Given the description of an element on the screen output the (x, y) to click on. 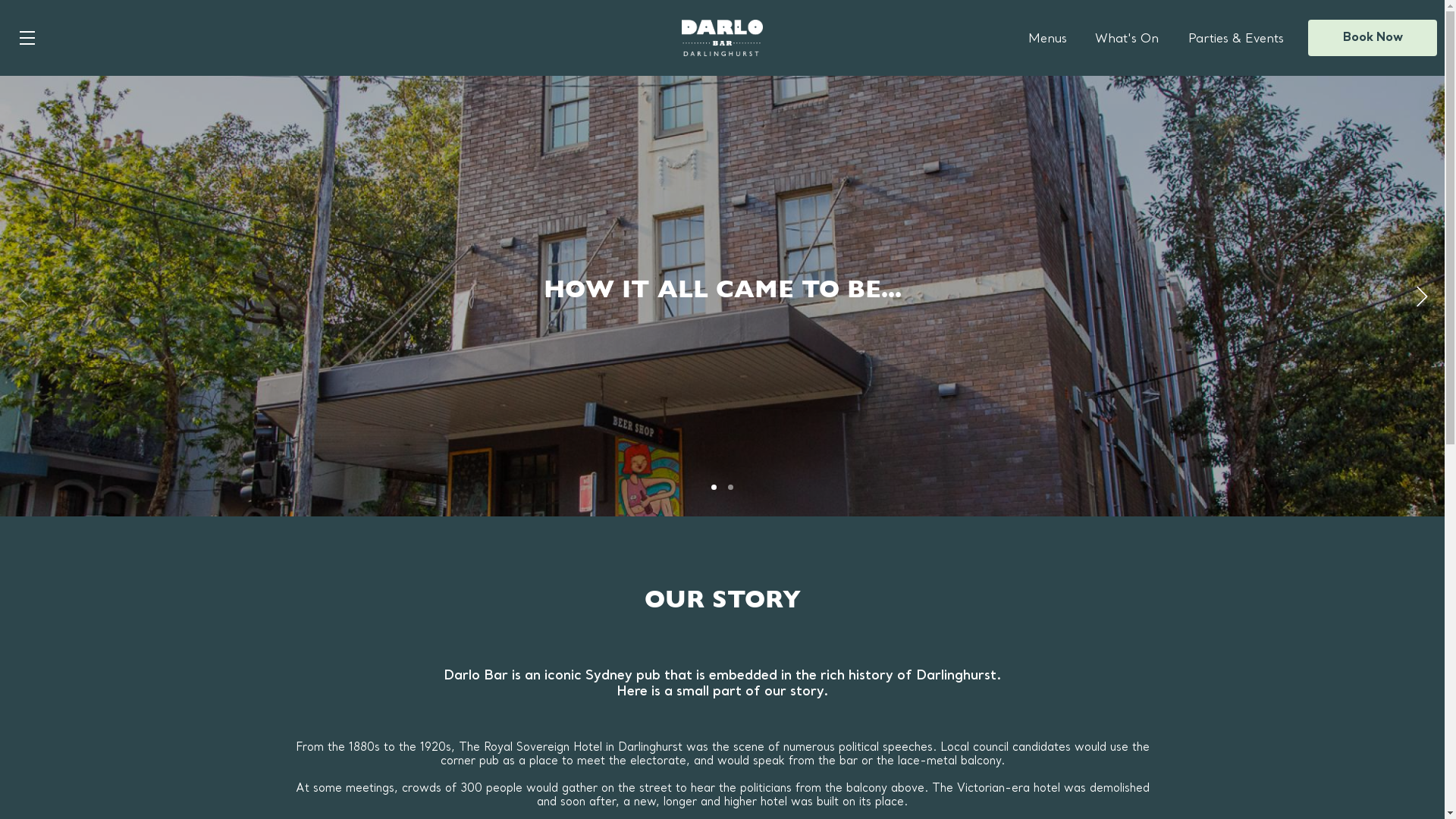
Book Now Element type: text (1372, 37)
Menus Element type: text (1047, 39)
What'S On Element type: text (1126, 39)
Parties & Events Element type: text (1235, 39)
